Given the description of an element on the screen output the (x, y) to click on. 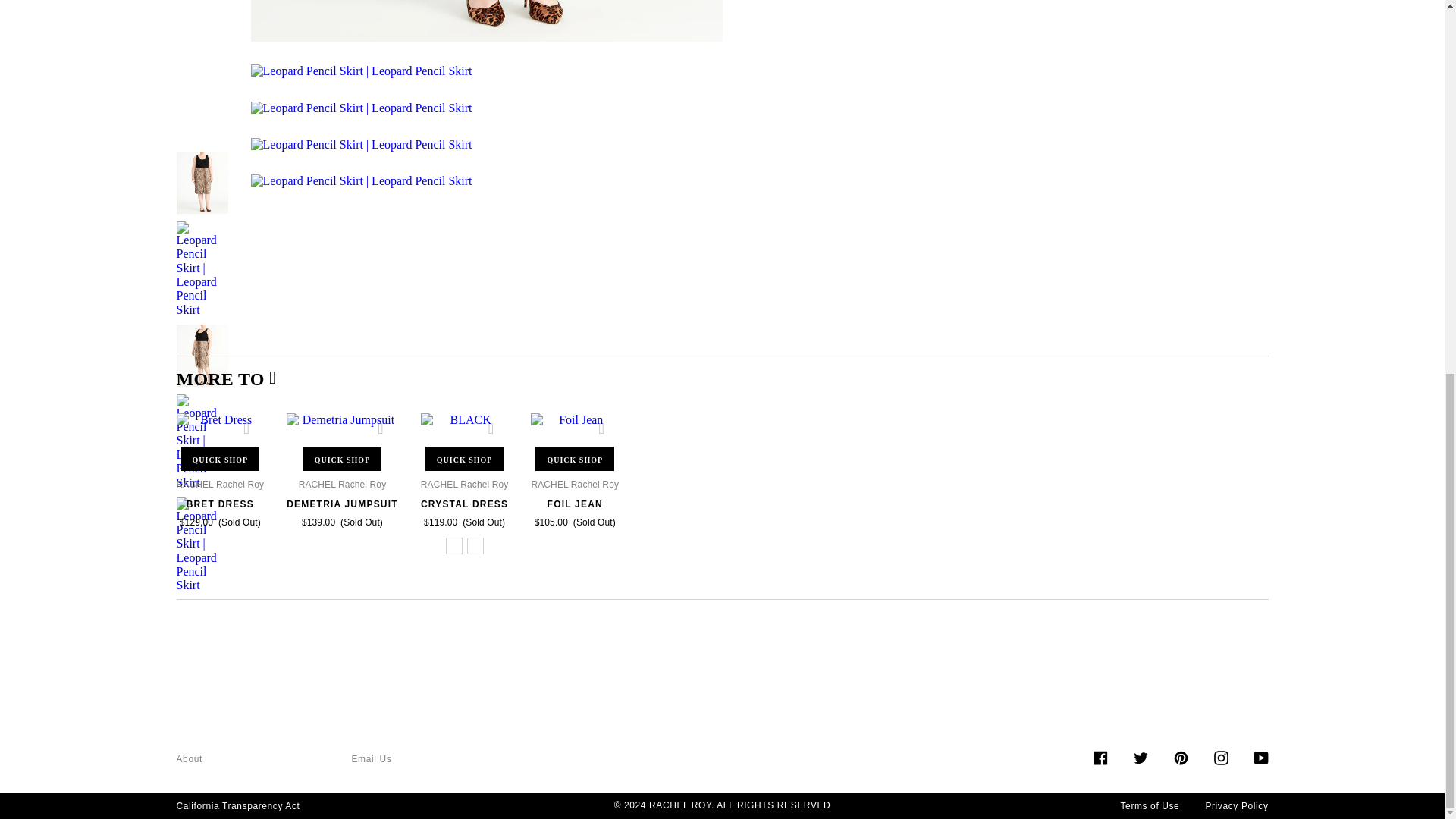
BRET DRESS (219, 504)
Rachel Roy on Facebook (1100, 756)
Rachel Roy on YouTube (1260, 756)
QUICK SHOP (219, 458)
Rachel Roy on Twitter (1139, 756)
Rachel Roy on Instagram (1219, 756)
Rachel Roy on Pinterest (1180, 756)
